Given the description of an element on the screen output the (x, y) to click on. 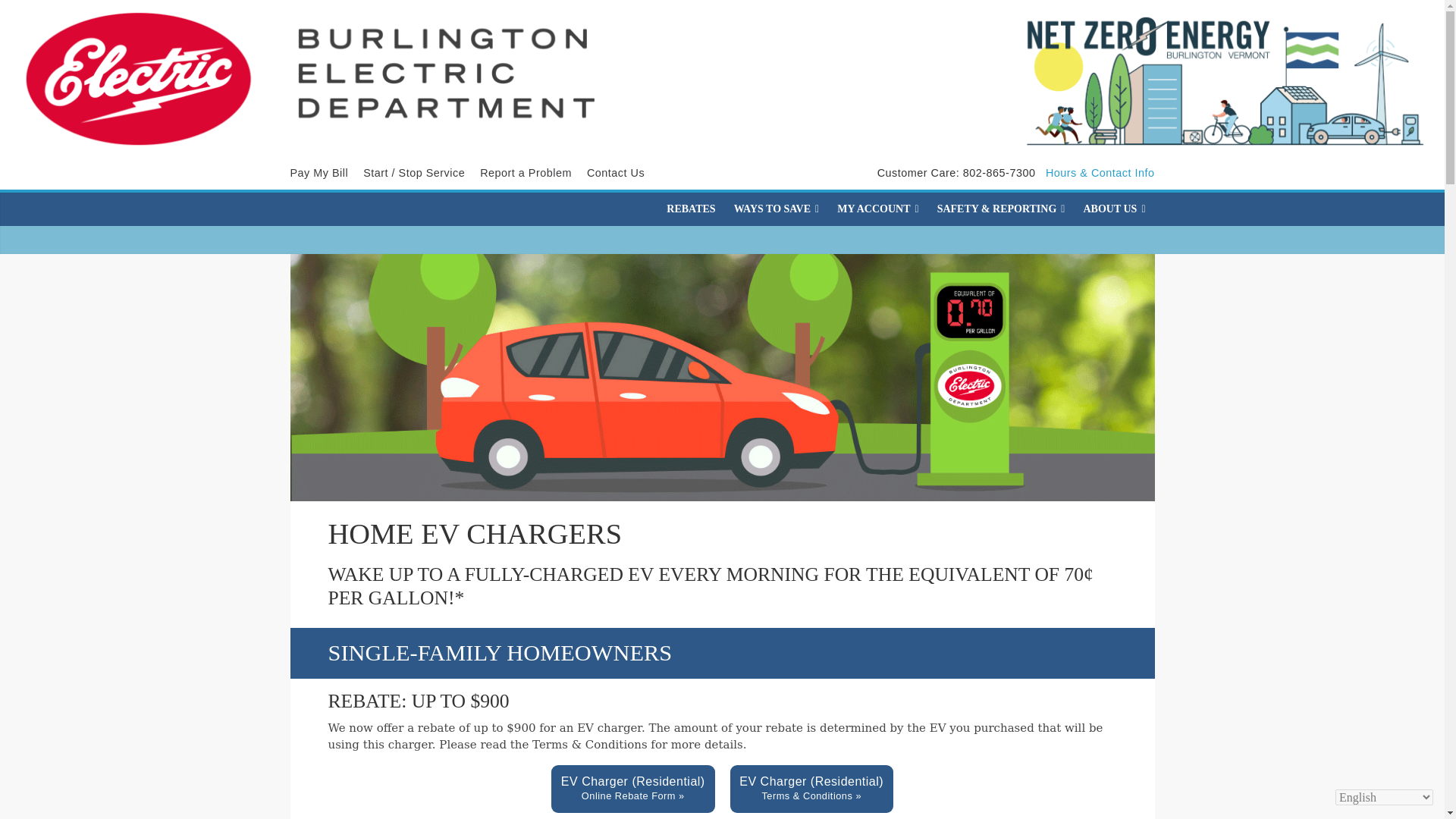
REBATES (690, 208)
Report a Problem (526, 173)
Home (317, 75)
ABOUT US (1114, 208)
Net Zero Energy (1212, 79)
WAYS TO SAVE (776, 208)
Contact Us (615, 173)
MY ACCOUNT (877, 208)
Pay My Bill (318, 173)
